Given the description of an element on the screen output the (x, y) to click on. 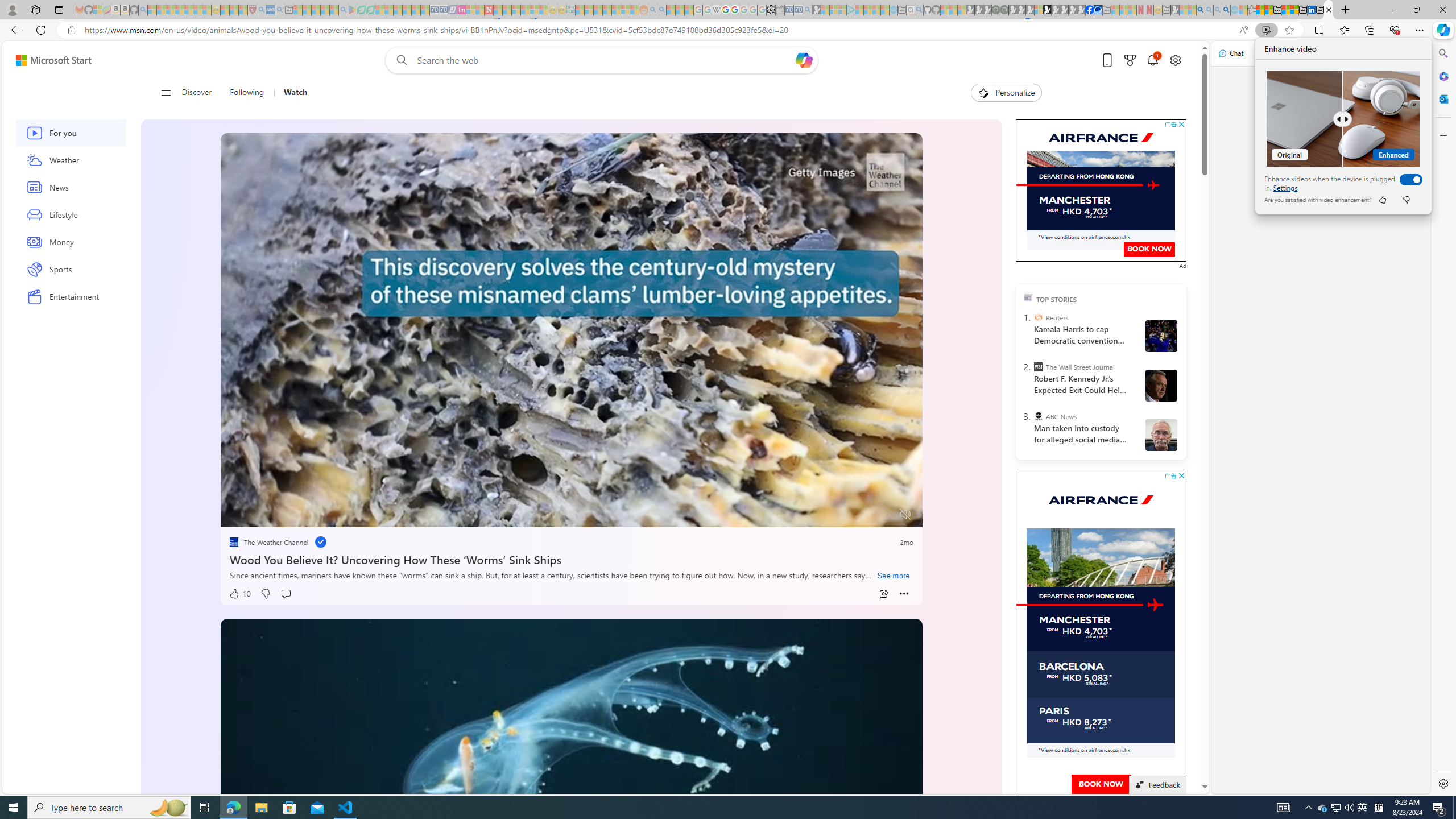
Replay (236, 514)
Enter your search term (603, 59)
Skip to footer (46, 59)
Bluey: Let's Play! - Apps on Google Play - Sleeping (352, 9)
 Harris and Walz campaign in Wisconsin (1161, 336)
